Given the description of an element on the screen output the (x, y) to click on. 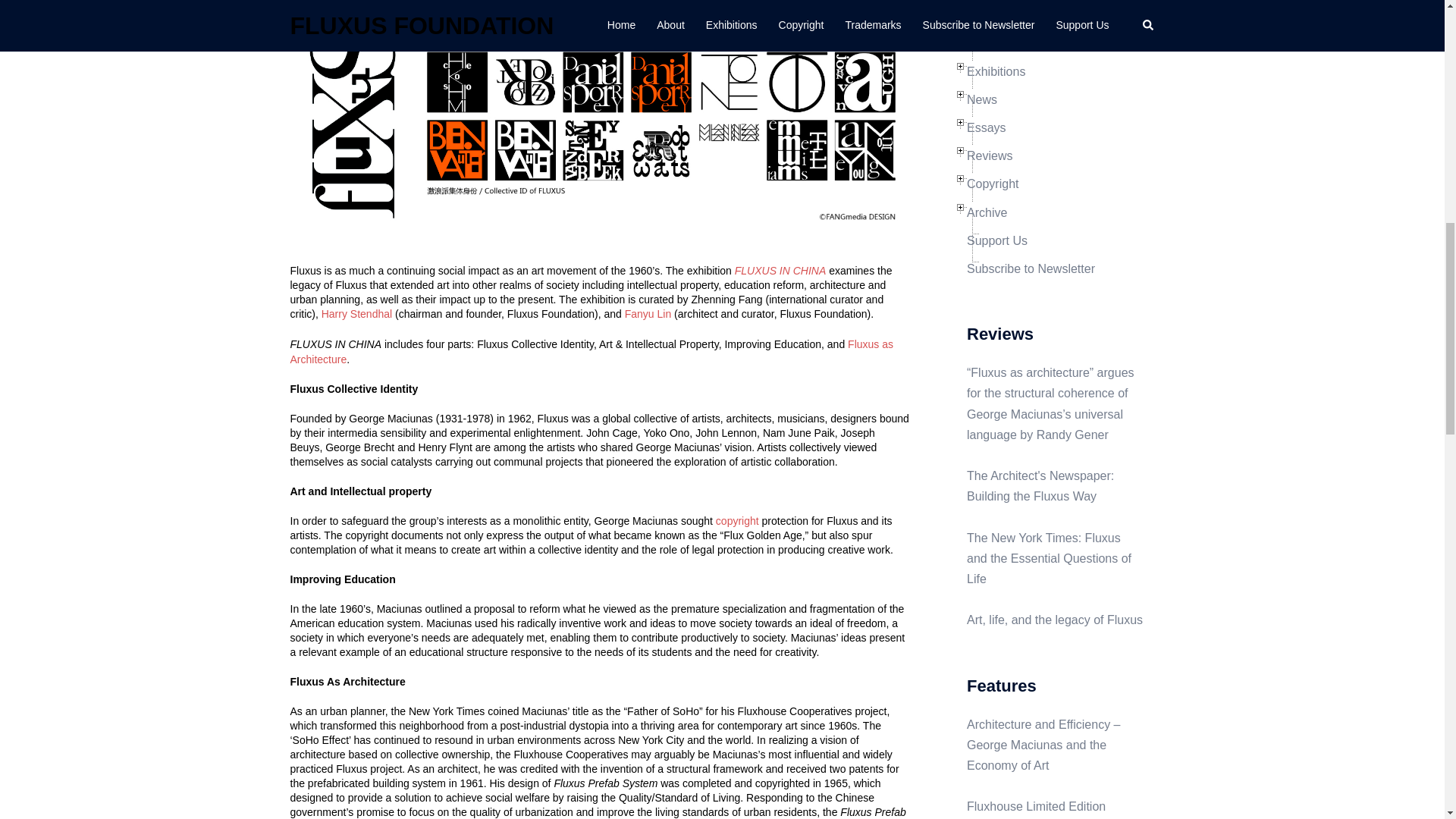
Fluxus as Architecture (591, 351)
copyright (737, 521)
FLUXUS IN CHINA (781, 270)
Fanyu Lin (647, 313)
Harry Stendhal (356, 313)
